Given the description of an element on the screen output the (x, y) to click on. 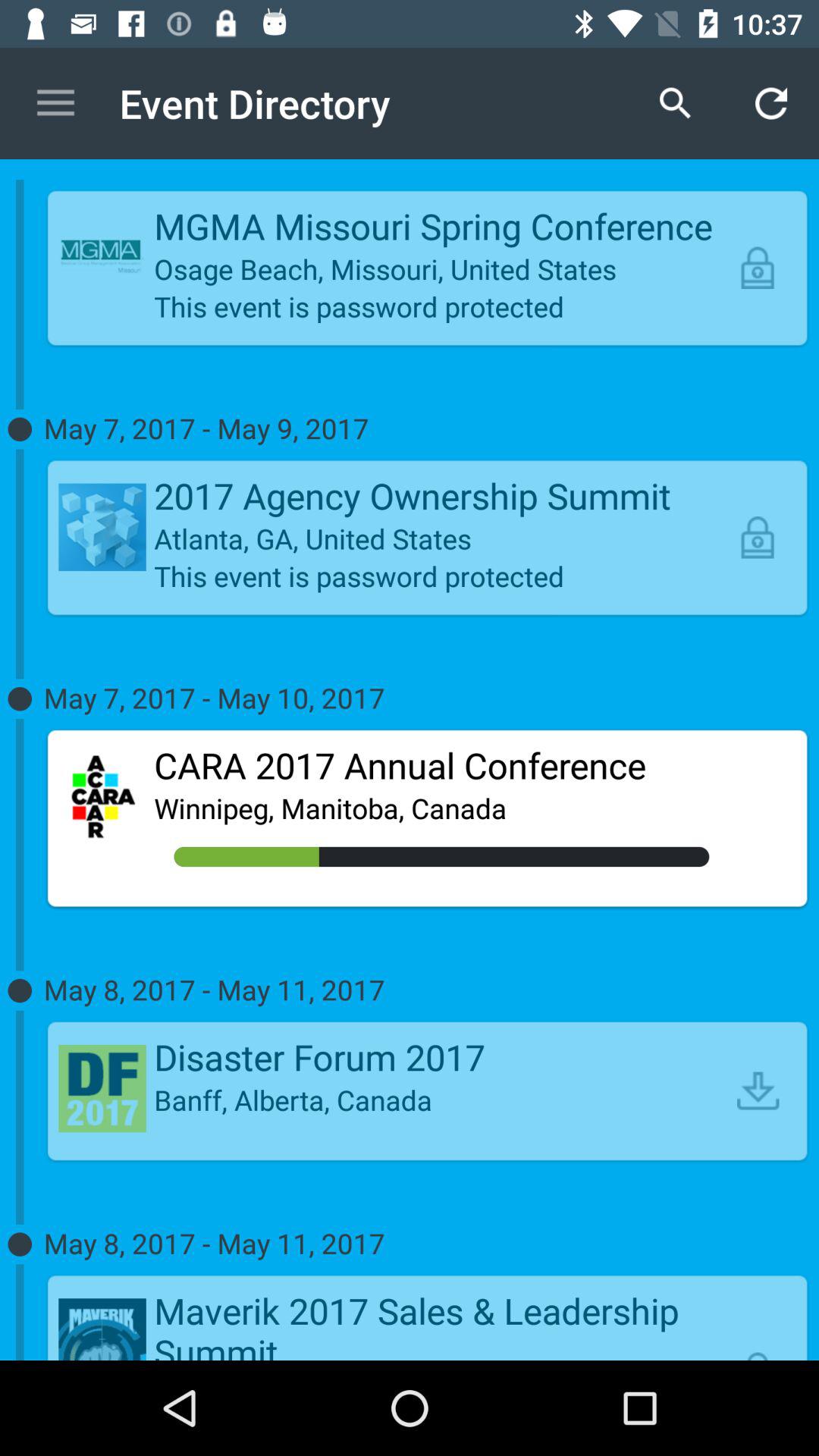
press item to the left of event directory item (55, 103)
